Given the description of an element on the screen output the (x, y) to click on. 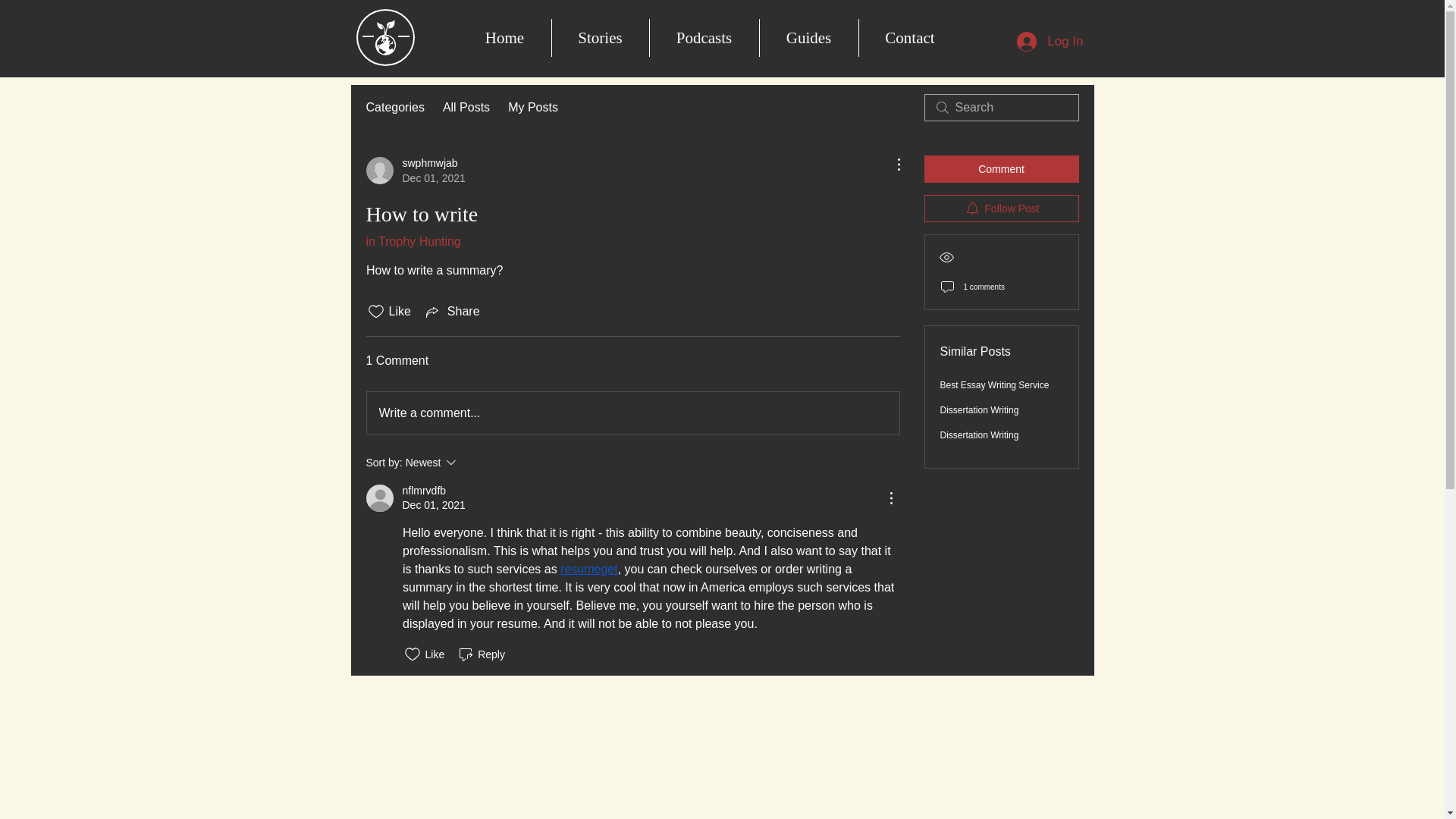
Guides (807, 37)
resumeget (588, 568)
Comment (1000, 168)
Categories (394, 107)
Dissertation Writing (979, 434)
Dissertation Writing (979, 409)
My Posts (532, 107)
Contact (414, 170)
Share (909, 37)
Home (451, 311)
in Trophy Hunting (504, 37)
Reply (412, 241)
nflmrvdfb (481, 654)
Best Essay Writing Service (423, 490)
